Given the description of an element on the screen output the (x, y) to click on. 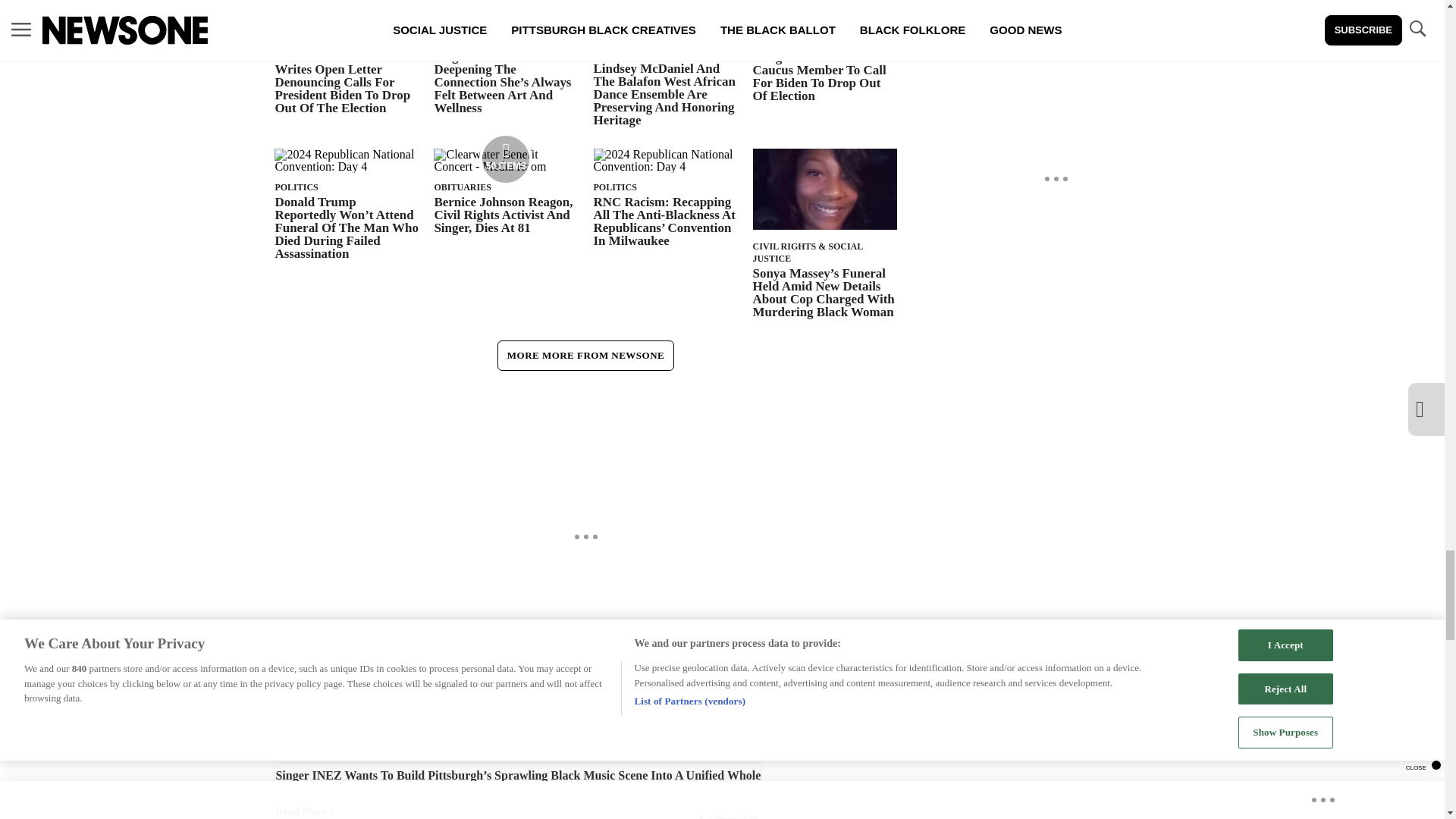
Media Playlist (505, 158)
